Given the description of an element on the screen output the (x, y) to click on. 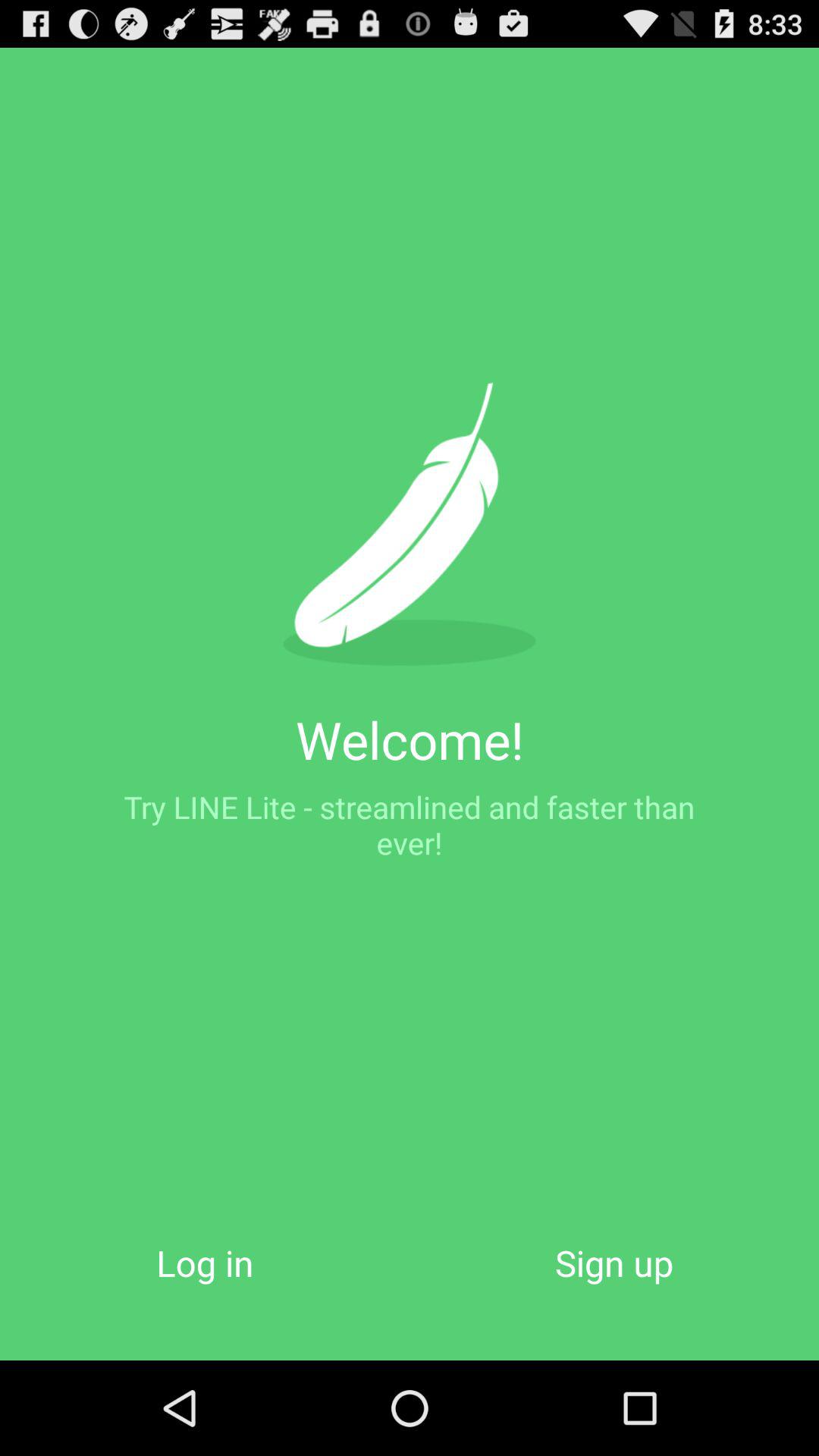
choose the icon at the bottom left corner (204, 1262)
